Given the description of an element on the screen output the (x, y) to click on. 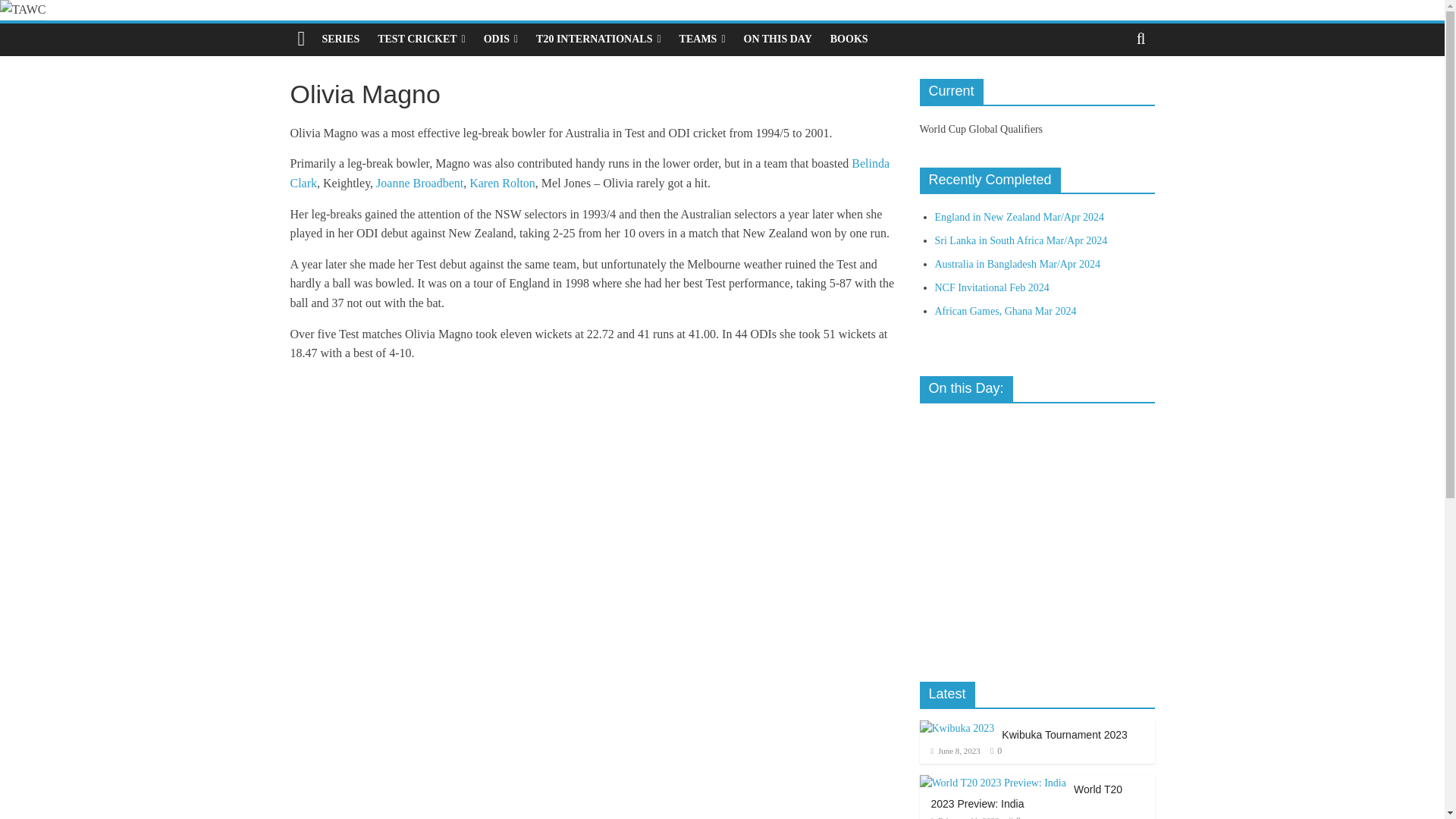
SERIES (340, 39)
Kwibuka Tournament 2023 (1063, 734)
World T20 2023 Preview: India (991, 782)
T20 INTERNATIONALS (598, 39)
Kwibuka Tournament 2023 (956, 727)
ODIS (500, 39)
World T20 2023 Preview: India (991, 782)
World T20 2023 Preview: India (1026, 796)
TAWC (301, 39)
TEST CRICKET (421, 39)
Kwibuka Tournament 2023 (956, 728)
10:43 pm (955, 750)
11:28 pm (964, 817)
TEAMS (702, 39)
